Given the description of an element on the screen output the (x, y) to click on. 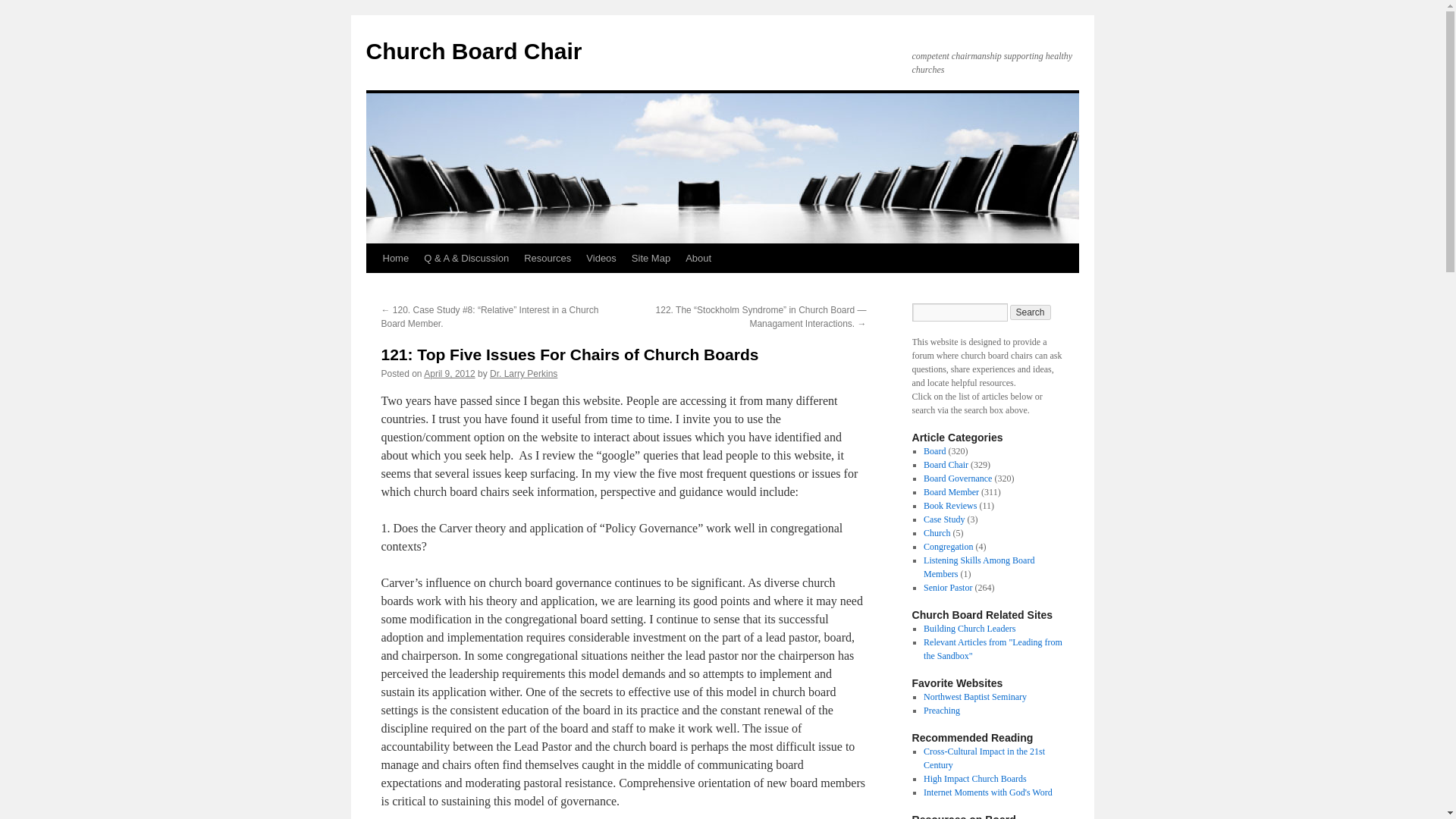
Senior Pastor (947, 587)
Videos (601, 258)
April 9, 2012 (448, 373)
Search (1030, 312)
Search (1030, 312)
About (698, 258)
Church Board Chair (472, 50)
Dr. Larry Perkins (523, 373)
Board Governance (957, 478)
Home (395, 258)
Listening Skills Among Board Members (978, 567)
Board Member (950, 491)
This is the institution where I have worked for 30 years (974, 696)
Case Study (943, 519)
Book Reviews (949, 505)
